Given the description of an element on the screen output the (x, y) to click on. 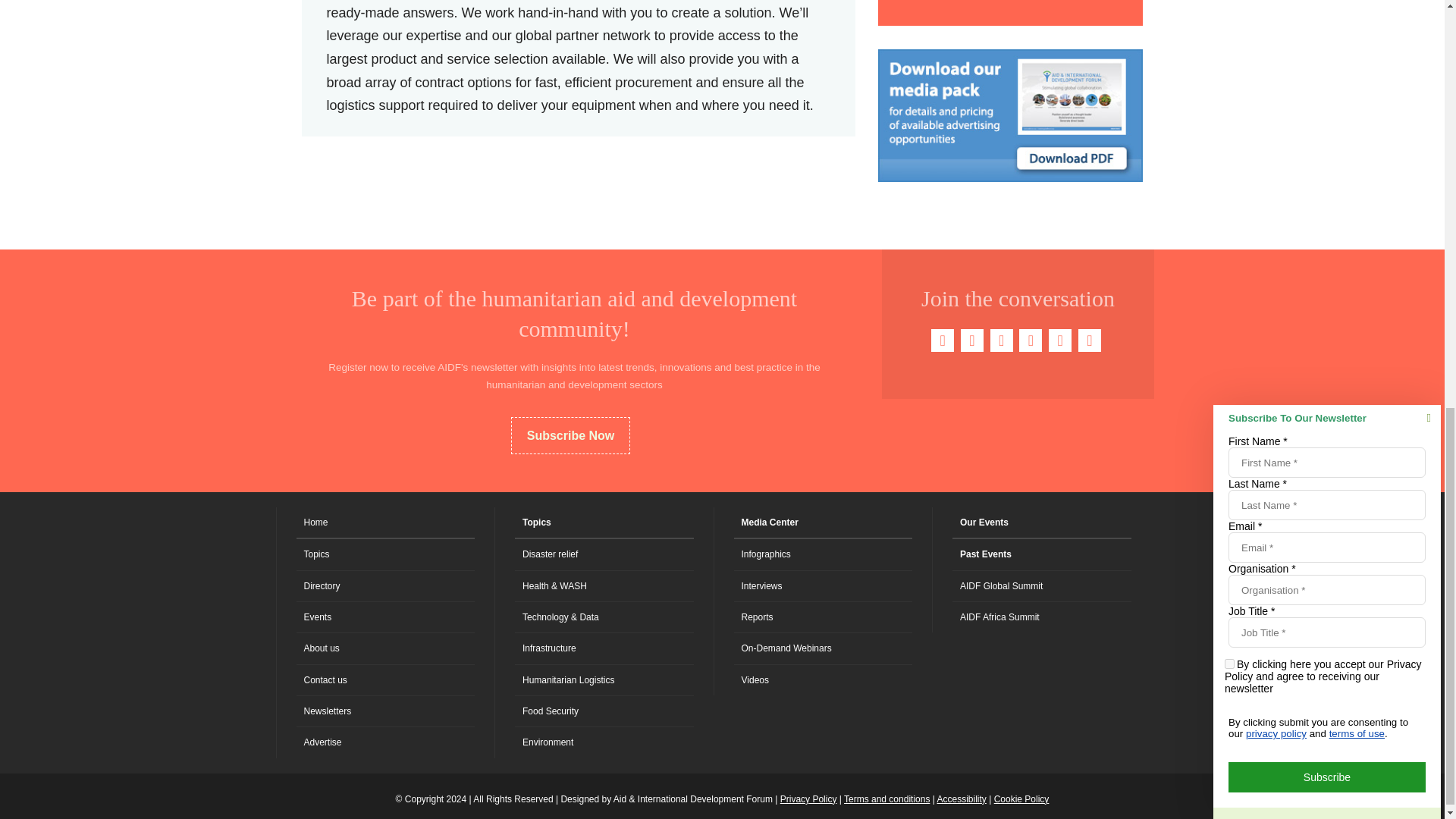
Twitter (972, 340)
Linkedin (1001, 340)
Youtube (1030, 340)
Facebook (942, 340)
Instagram (1089, 340)
LinkedIn Group (1059, 340)
